Given the description of an element on the screen output the (x, y) to click on. 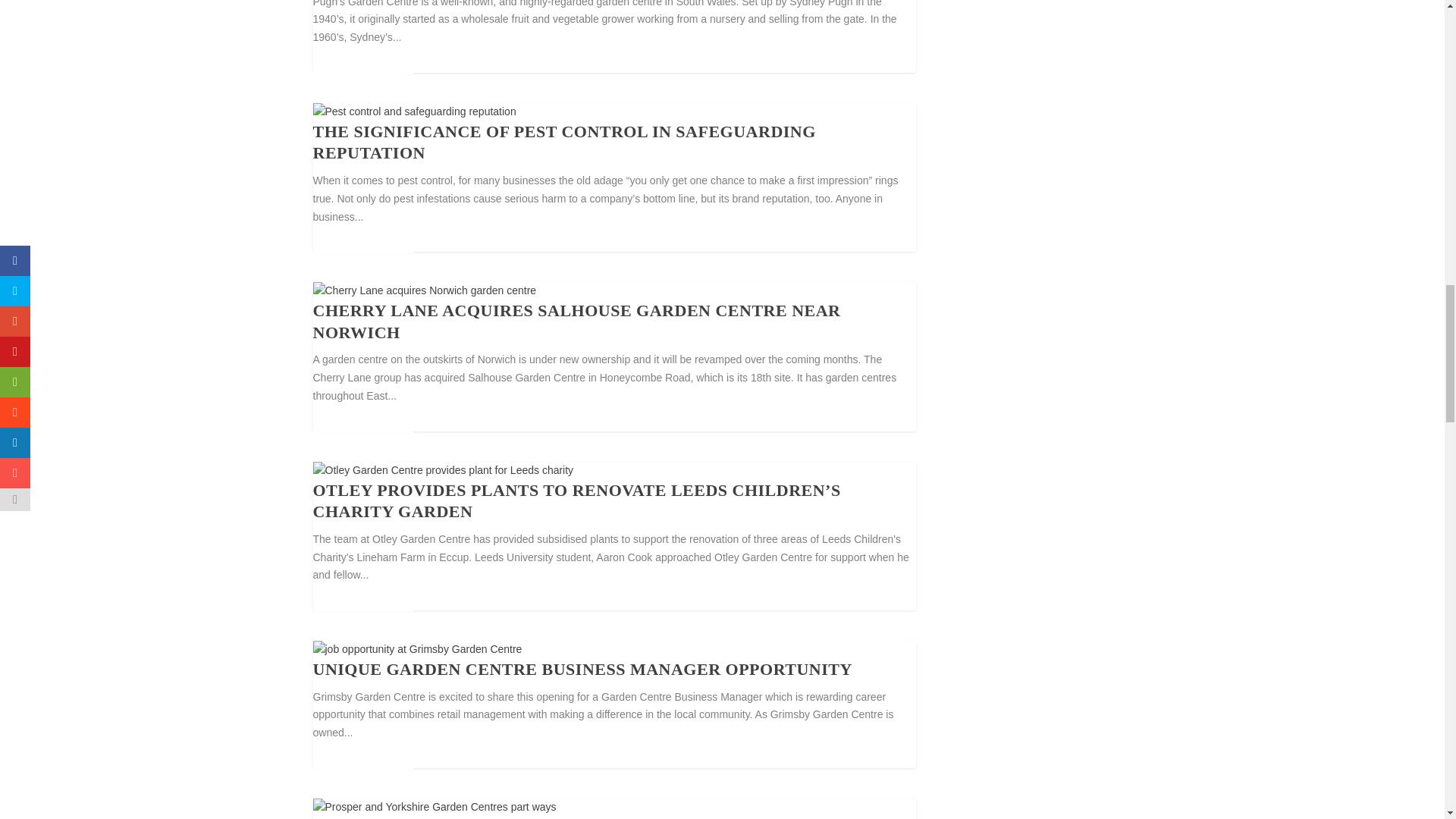
Read More (363, 418)
Read More (363, 59)
Read More (363, 238)
THE SIGNIFICANCE OF PEST CONTROL IN SAFEGUARDING REPUTATION (564, 142)
CHERRY LANE ACQUIRES SALHOUSE GARDEN CENTRE NEAR NORWICH (576, 321)
